Given the description of an element on the screen output the (x, y) to click on. 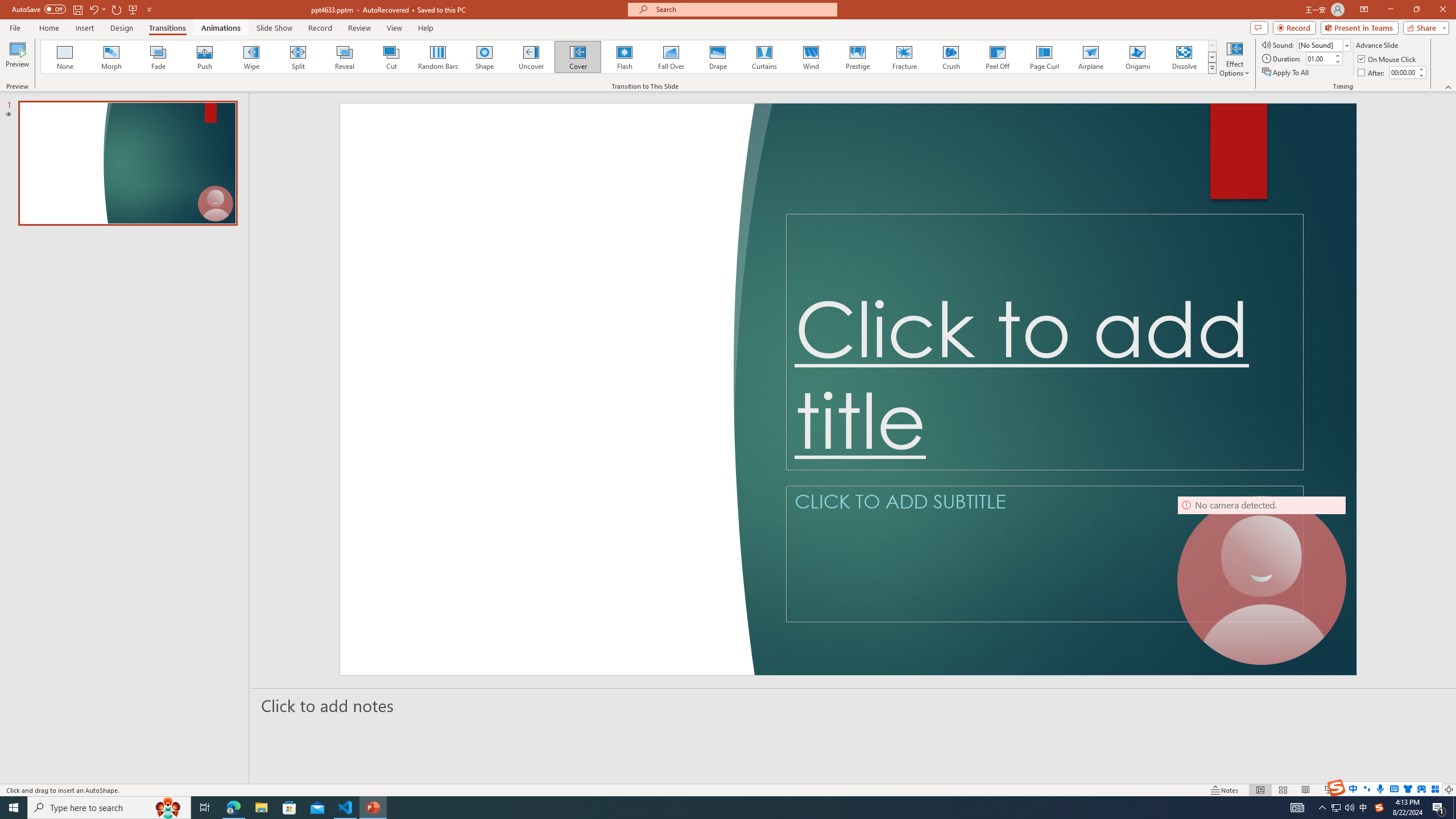
Organic Loading Preview... (403, 56)
Variants (1301, 67)
Retrospect Loading Preview... (455, 56)
